Given the description of an element on the screen output the (x, y) to click on. 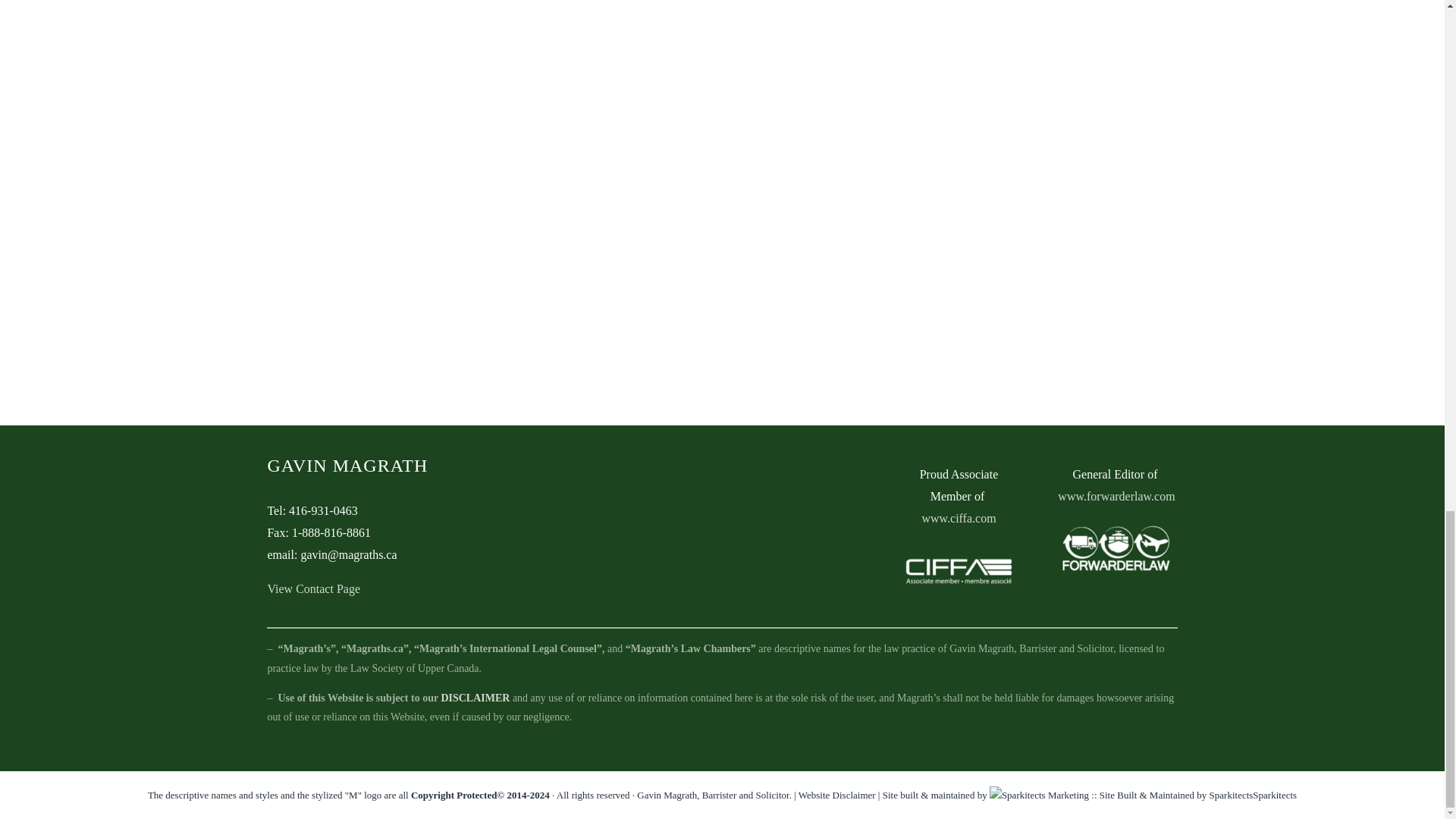
www.ciffa.com (958, 517)
DISCLAIMER (475, 697)
www.forwarderlaw.com (1116, 495)
View Contact Page (312, 588)
